Given the description of an element on the screen output the (x, y) to click on. 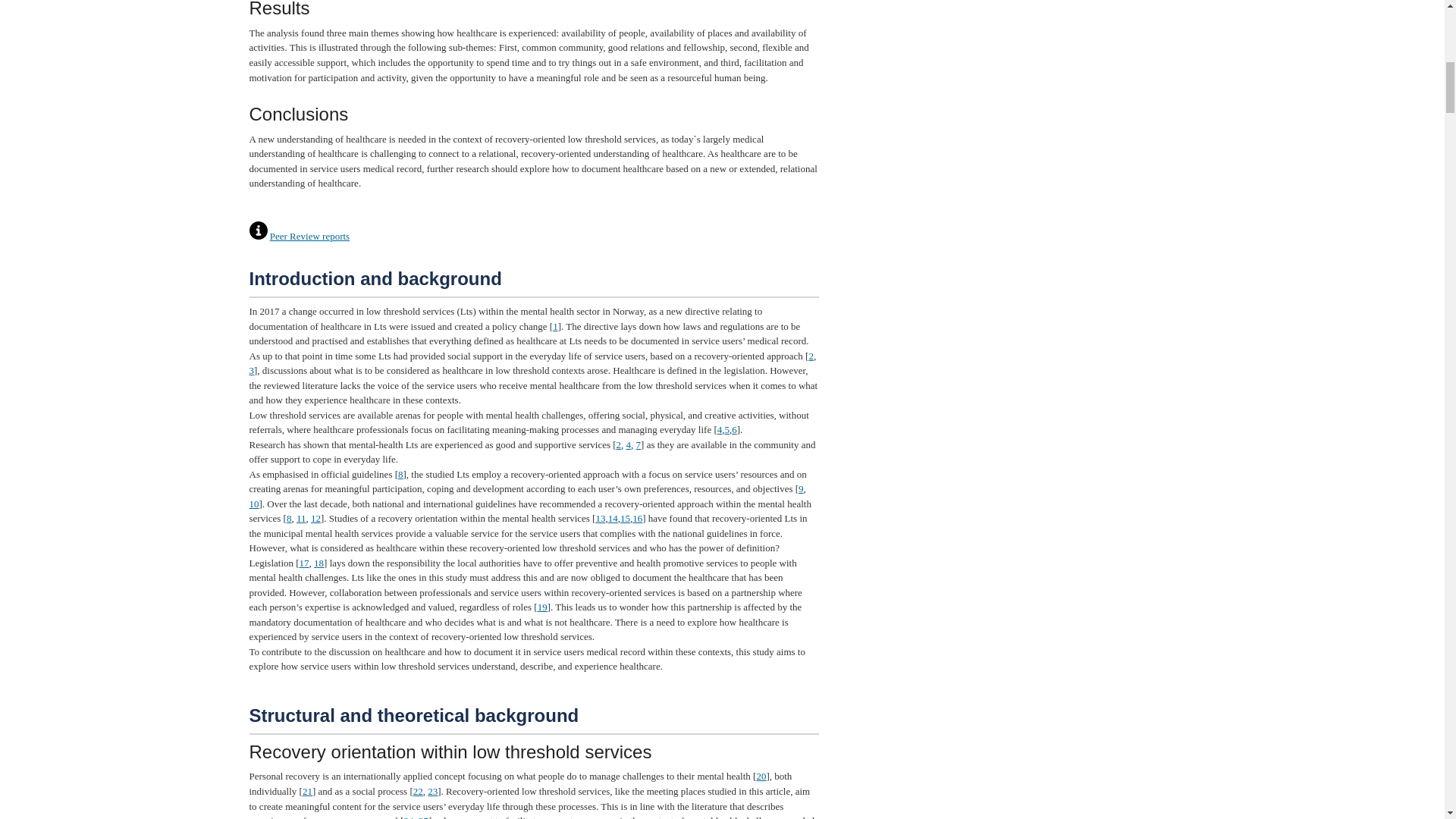
Peer Review reports (309, 235)
